Given the description of an element on the screen output the (x, y) to click on. 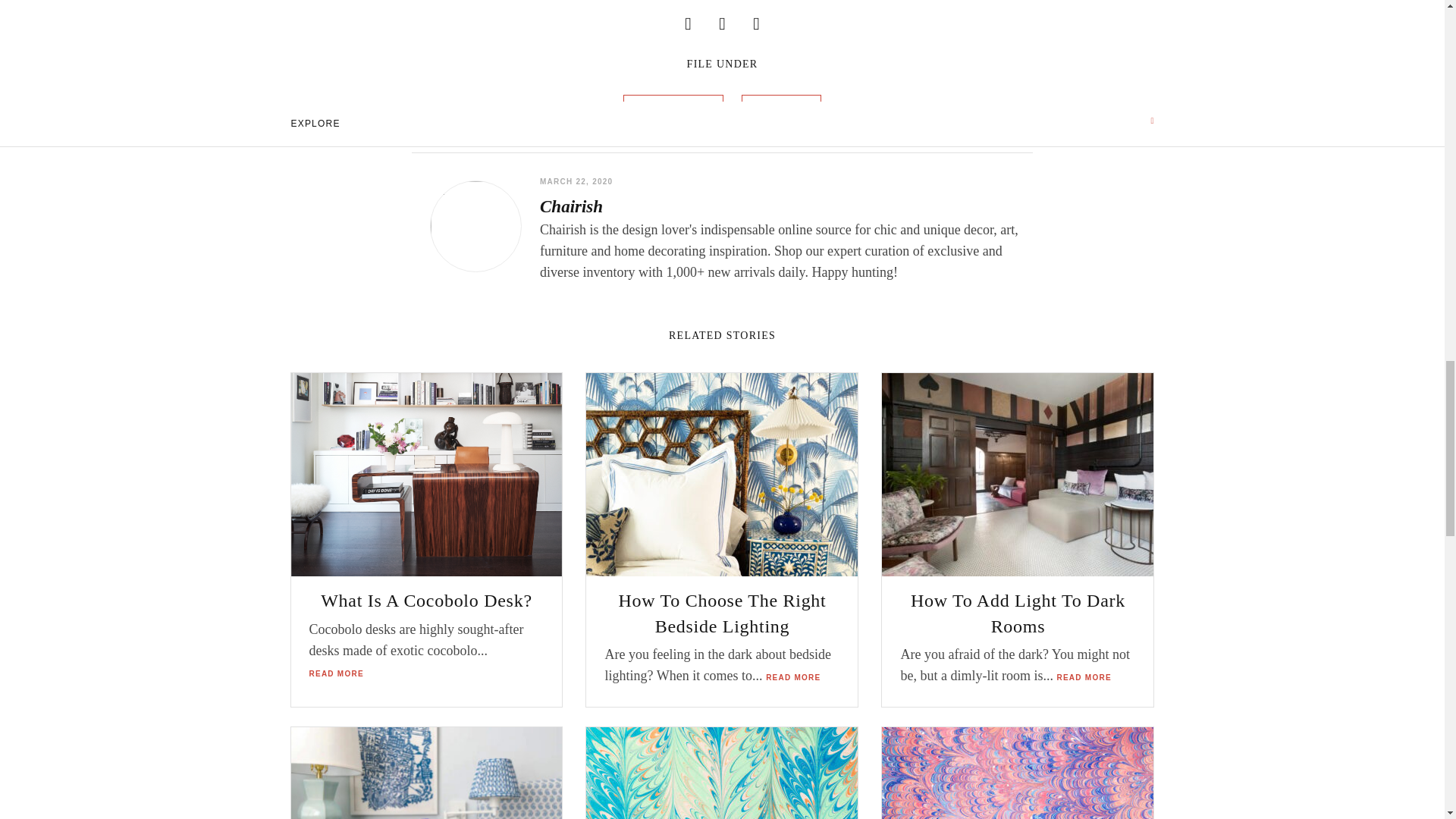
What Size Tablecloth is the Best Fit for an 8-Foot Table? (1017, 773)
What is a Cocobolo Desk? (426, 475)
How to Decorate Bedroom Nightstands (426, 773)
How to Add Light to Dark Rooms (1017, 474)
How to Choose the Right Bedside Lighting (721, 475)
How to Decorate Bedroom Nightstands (426, 773)
Posts by Chairish (571, 206)
What Size Round Table Seats 8? (721, 773)
How to Choose the Right Bedside Lighting (721, 474)
How to Add Light to Dark Rooms (1017, 475)
What Size Round Table Seats 8? (721, 773)
What is a Cocobolo Desk? (426, 474)
